Given the description of an element on the screen output the (x, y) to click on. 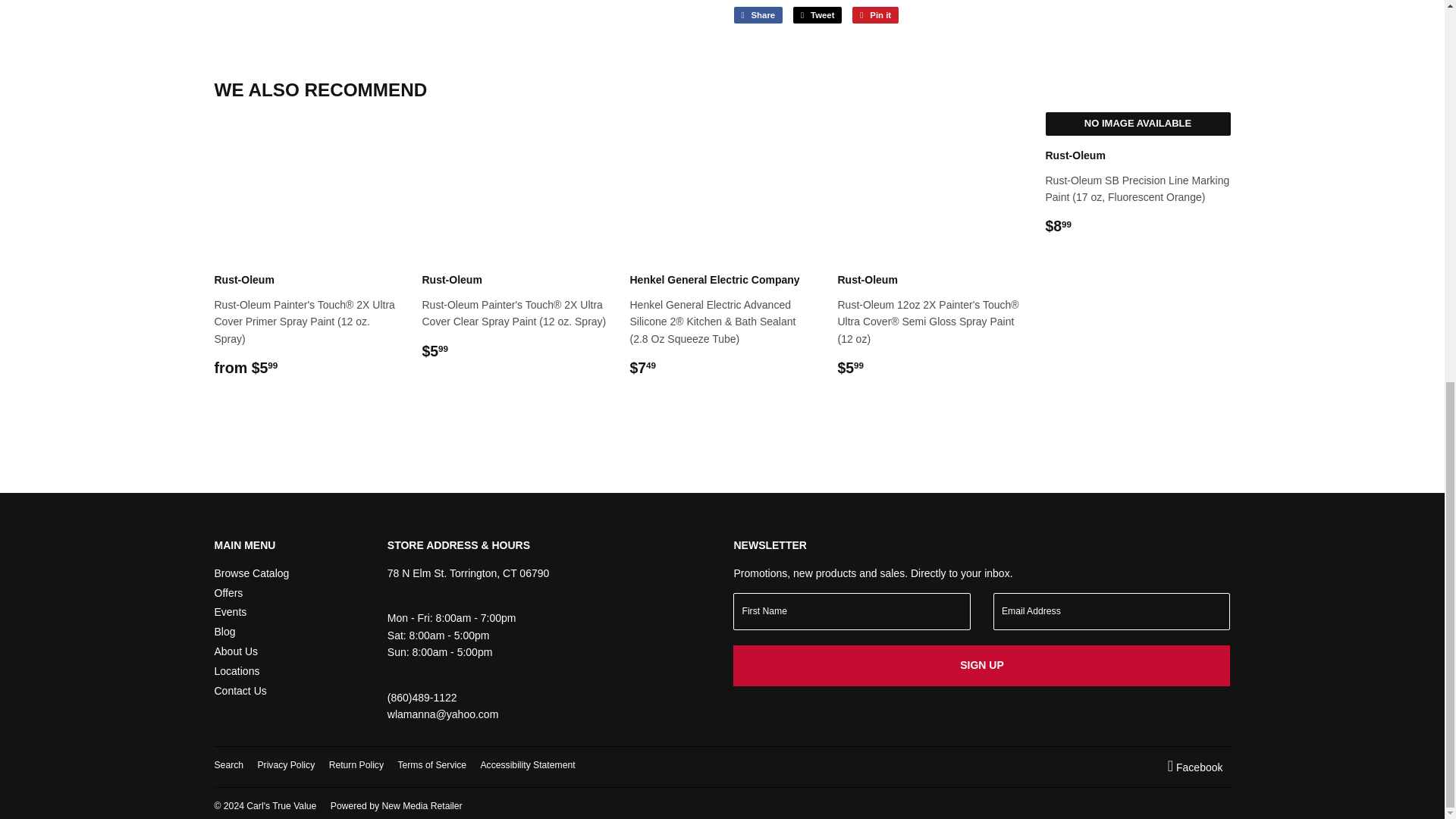
Tweet on Twitter (817, 14)
New Media Retailer (396, 805)
Share on Facebook (758, 14)
Pin on Pinterest (874, 14)
